Given the description of an element on the screen output the (x, y) to click on. 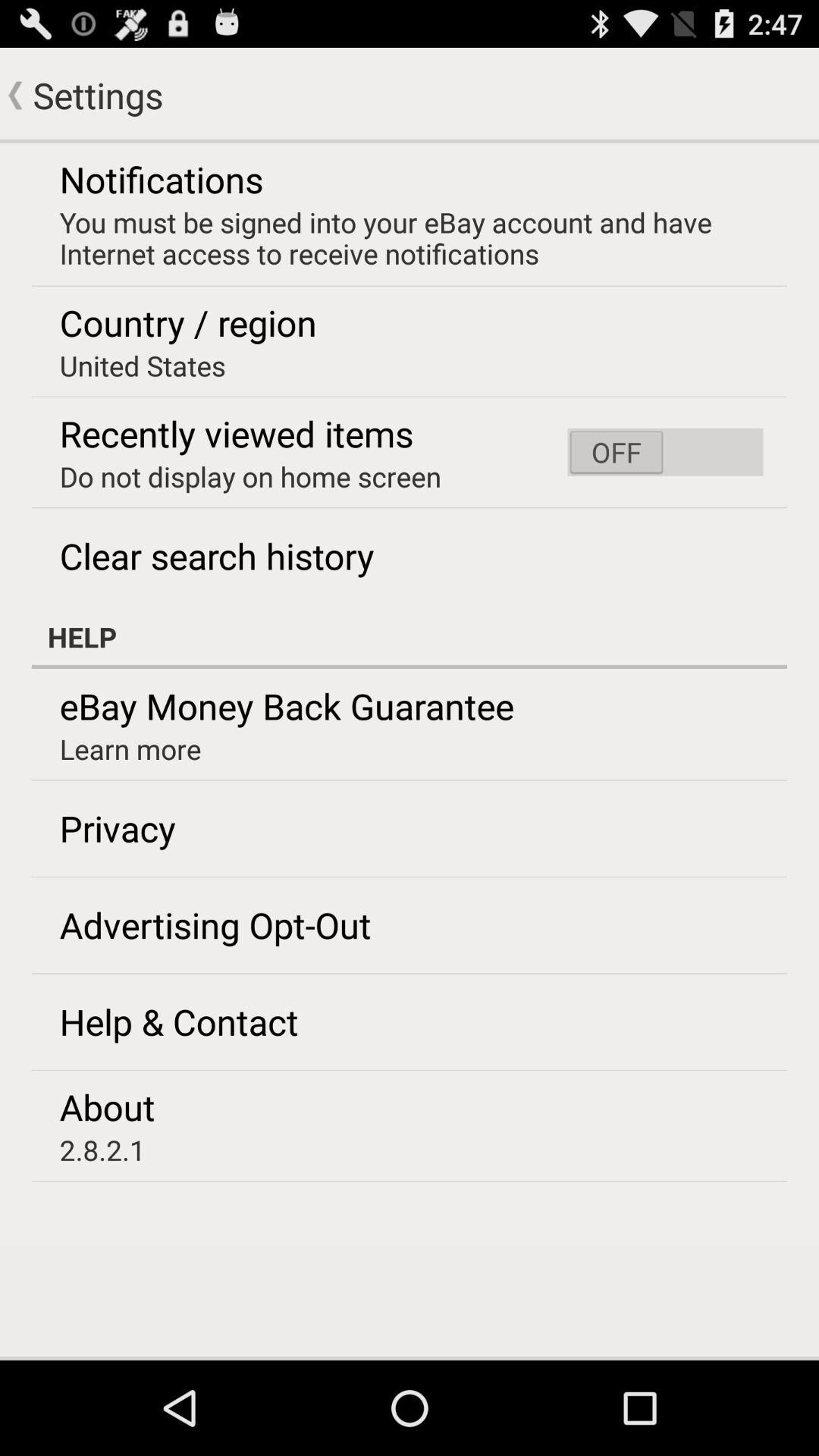
choose the icon below recently viewed items (250, 476)
